Given the description of an element on the screen output the (x, y) to click on. 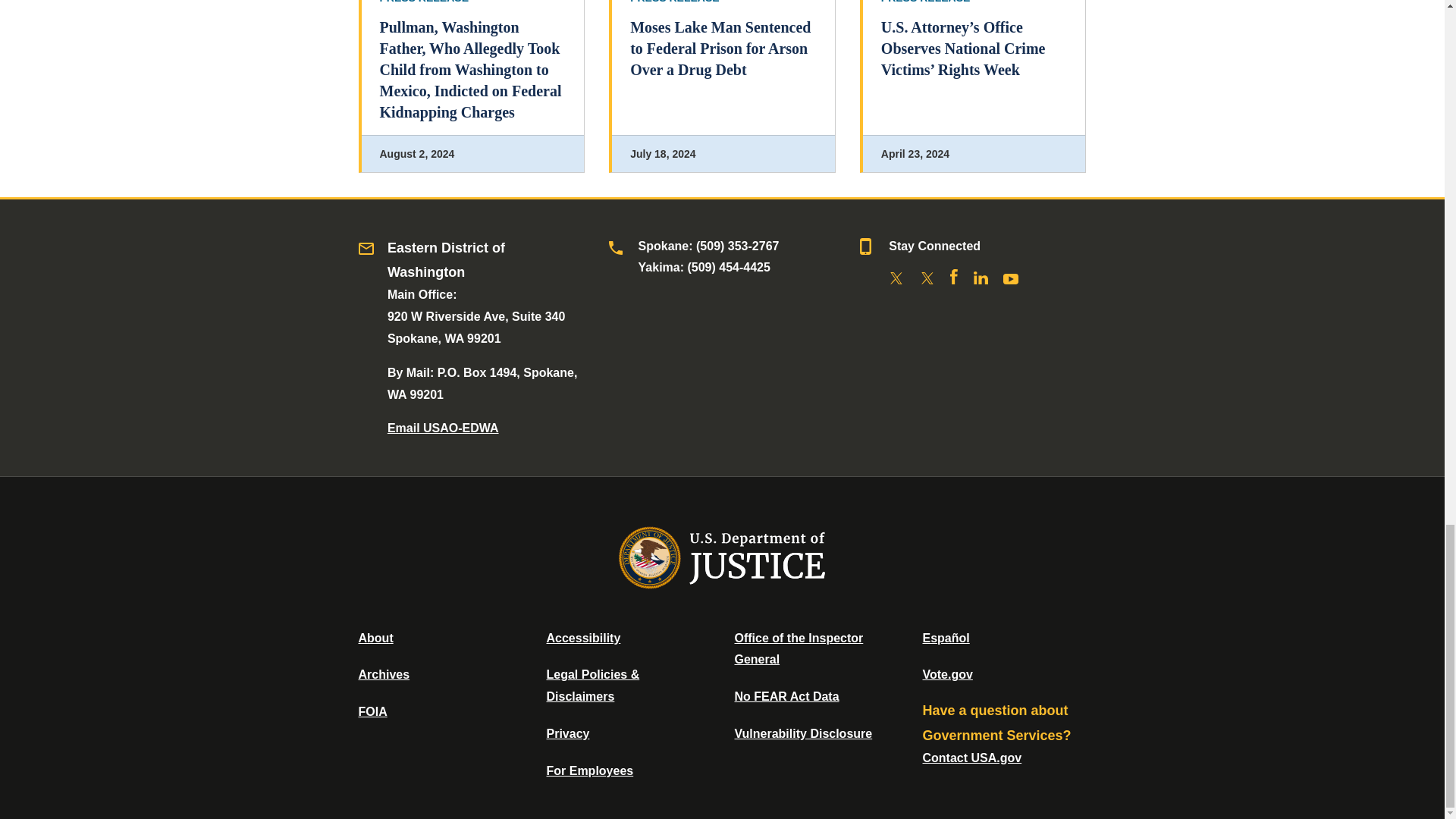
About DOJ (375, 637)
Accessibility Statement (583, 637)
Department of Justice Archive (383, 674)
For Employees (589, 770)
Legal Policies and Disclaimers (592, 685)
Data Posted Pursuant To The No Fear Act (785, 696)
Office of Information Policy (372, 711)
